Given the description of an element on the screen output the (x, y) to click on. 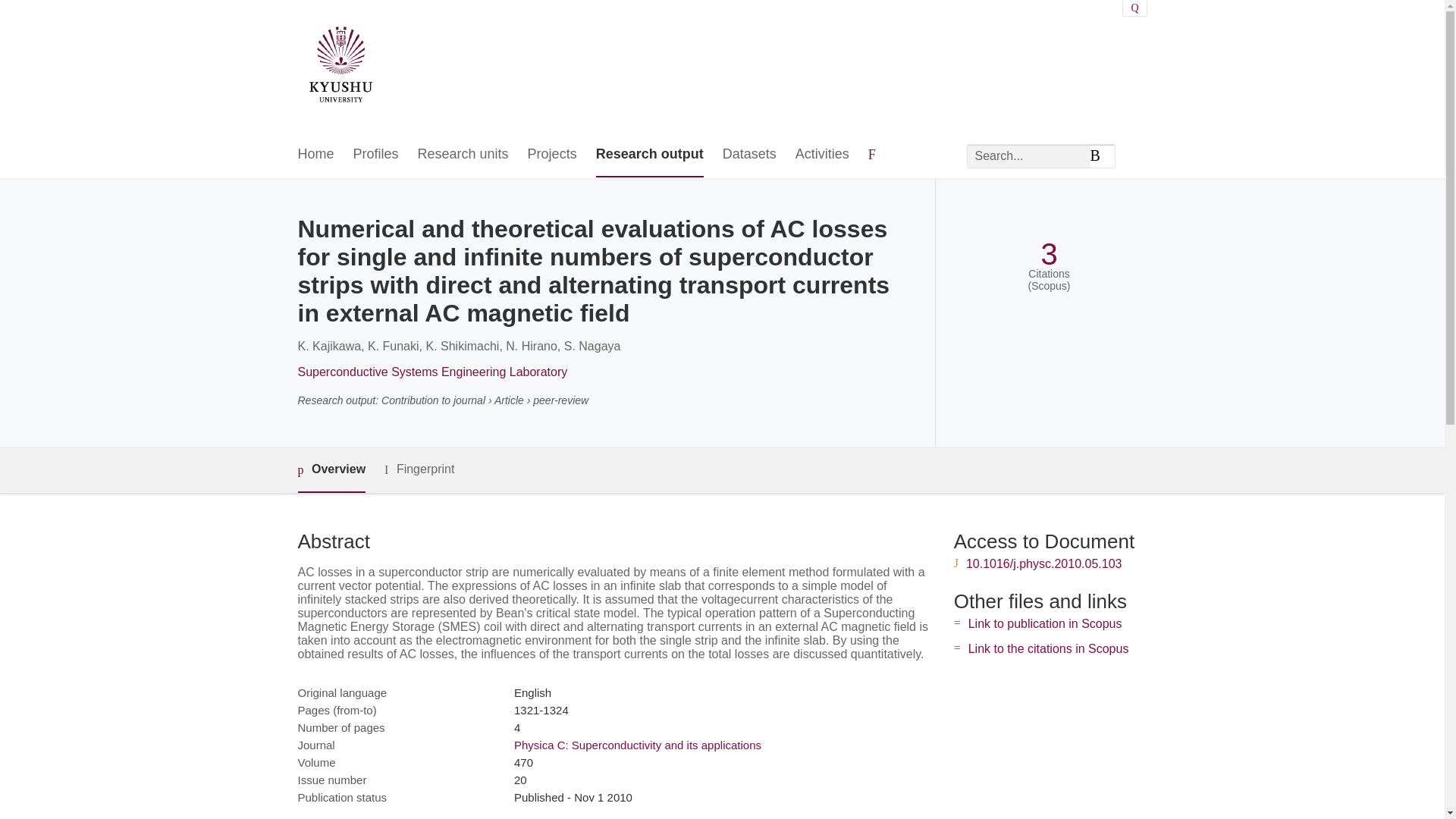
Link to publication in Scopus (1045, 623)
Activities (821, 154)
Datasets (749, 154)
Fingerprint (419, 469)
Physica C: Superconductivity and its applications (637, 744)
Superconductive Systems Engineering Laboratory (432, 371)
Link to the citations in Scopus (1048, 648)
Overview (331, 470)
Profiles (375, 154)
Research output (649, 154)
